Given the description of an element on the screen output the (x, y) to click on. 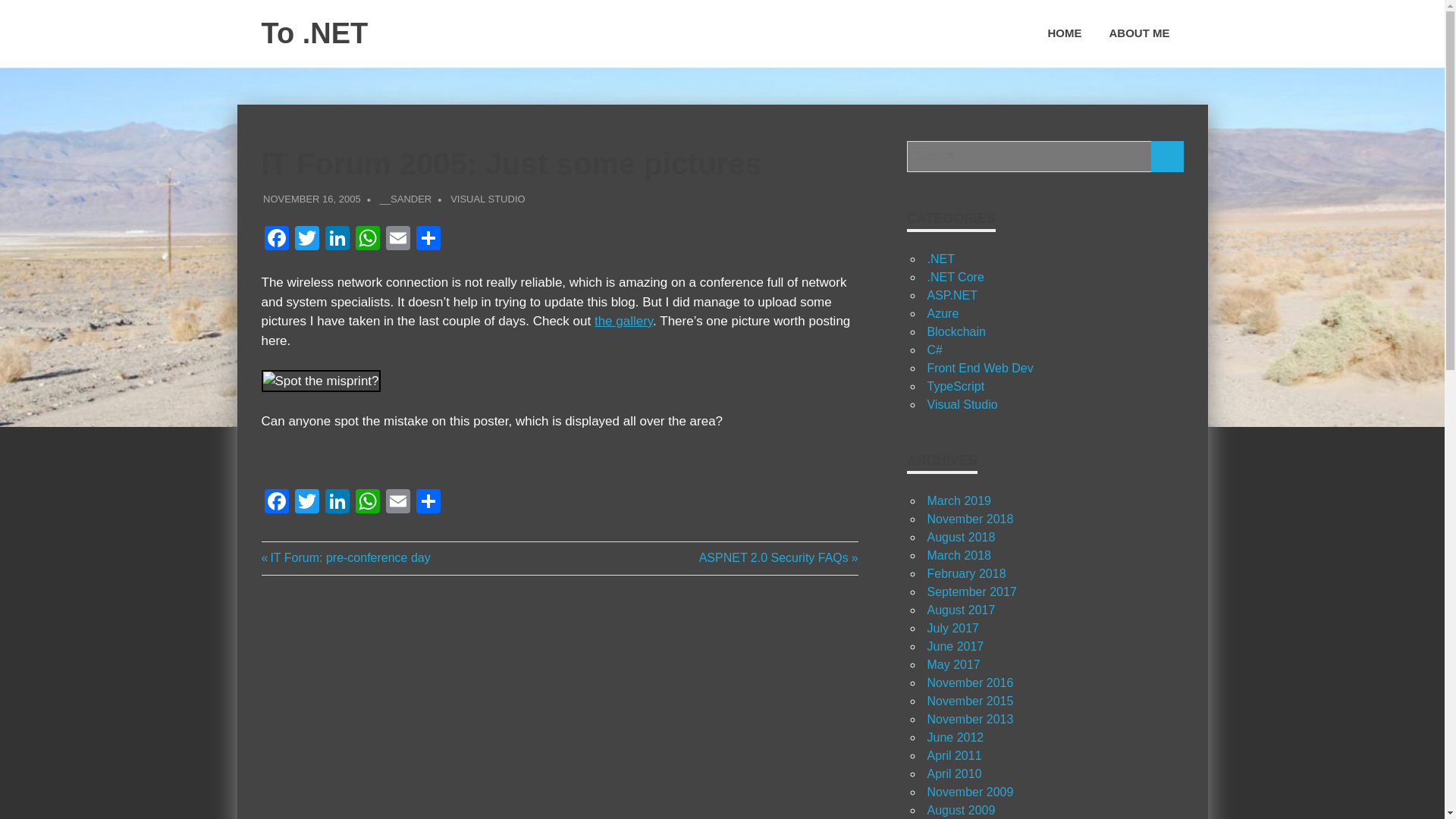
Twitter (306, 239)
Share (427, 502)
.NET (939, 258)
Twitter (306, 502)
LinkedIn (336, 239)
Email (396, 502)
ABOUT ME (1138, 33)
Email (396, 239)
August 2018 (960, 536)
To .NET (314, 33)
Twitter (306, 502)
5:17 pm (312, 197)
Blockchain (955, 331)
Visual Studio (961, 404)
TypeScript (955, 386)
